Given the description of an element on the screen output the (x, y) to click on. 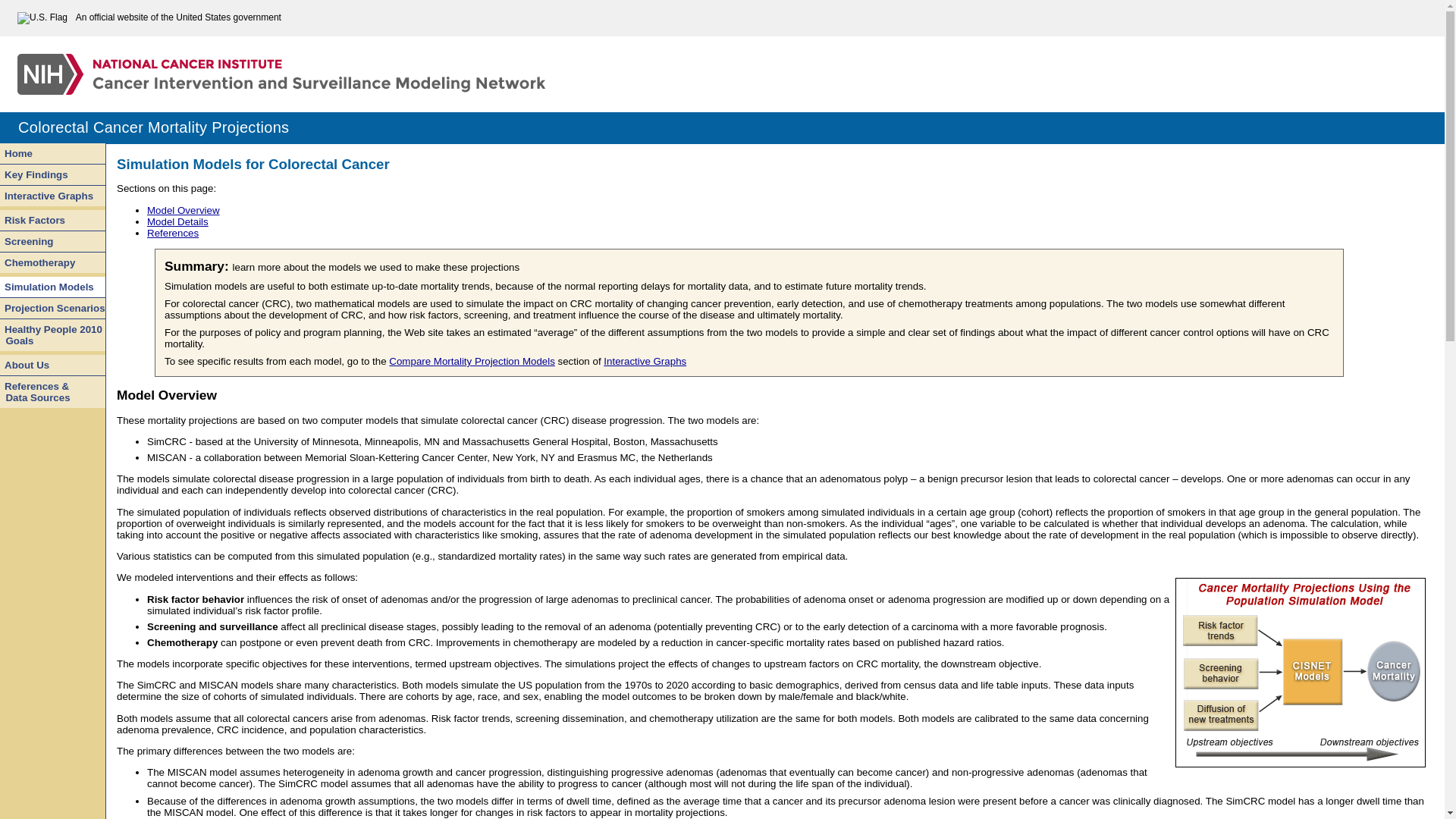
Key Findings (52, 174)
Screening (52, 241)
Compare Mortality Projection Models (471, 360)
Interactive Graphs (52, 195)
References (52, 335)
Chemotherapy (172, 233)
Colorectal Cancer Mortality Projections (52, 262)
About Us (721, 127)
Projection Scenarios (52, 364)
